Given the description of an element on the screen output the (x, y) to click on. 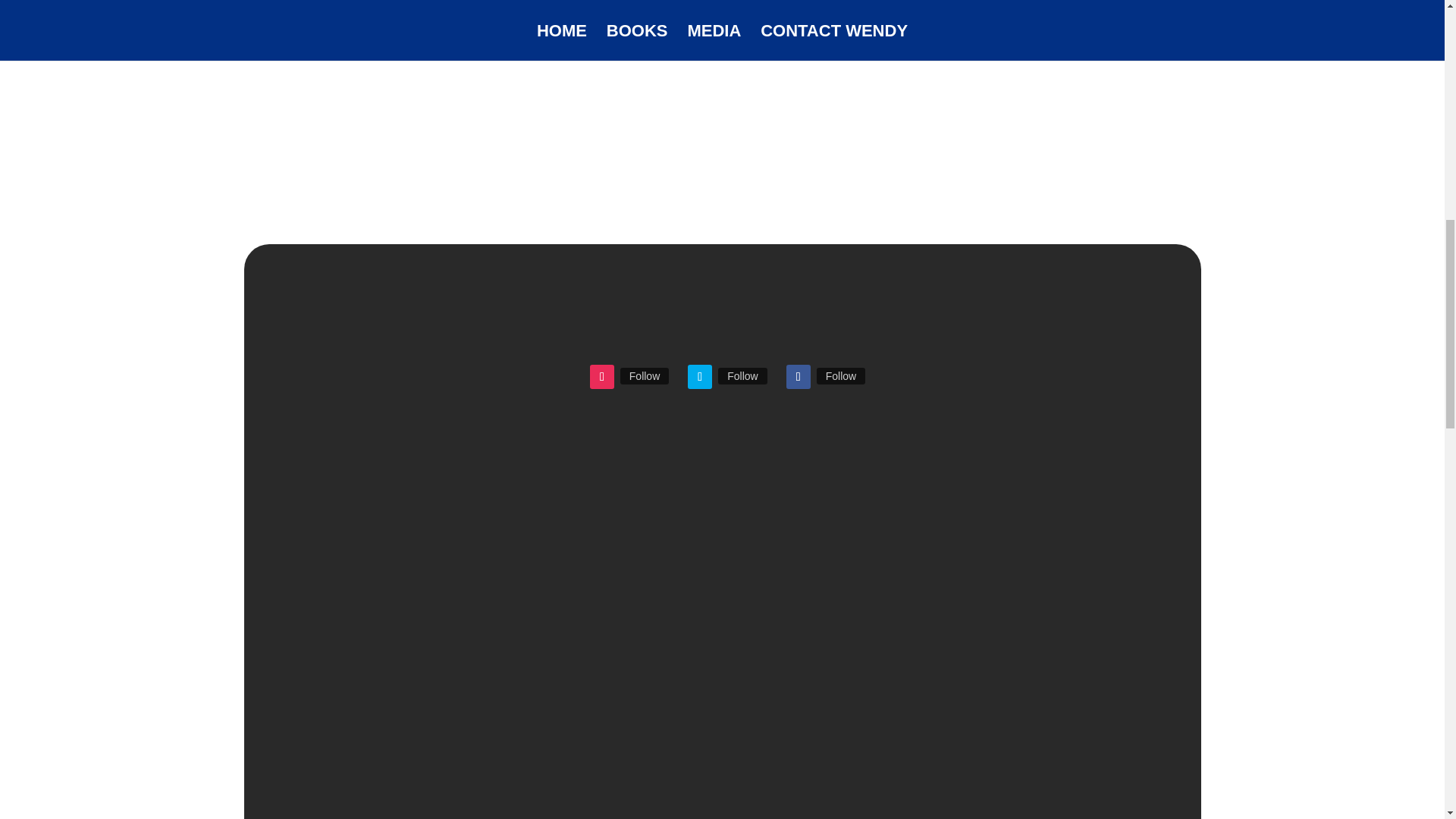
Follow (840, 375)
Facebook (840, 375)
Follow (644, 375)
Instagram (644, 375)
Follow on Twitter (699, 376)
Follow on Facebook (798, 376)
Twitter (742, 375)
Follow on Instagram (601, 376)
Follow (742, 375)
